Given the description of an element on the screen output the (x, y) to click on. 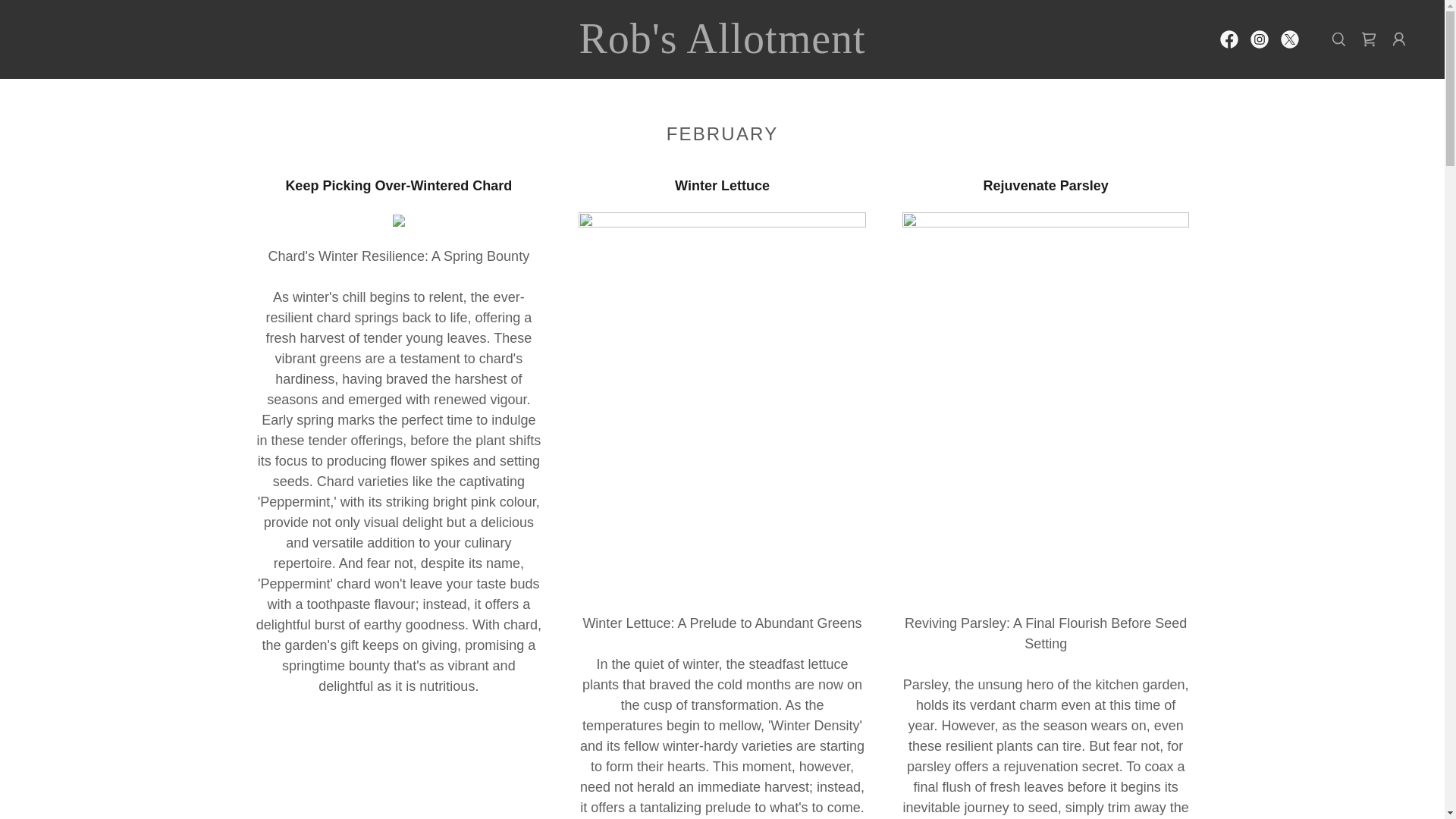
Rob's Allotment (722, 48)
